Given the description of an element on the screen output the (x, y) to click on. 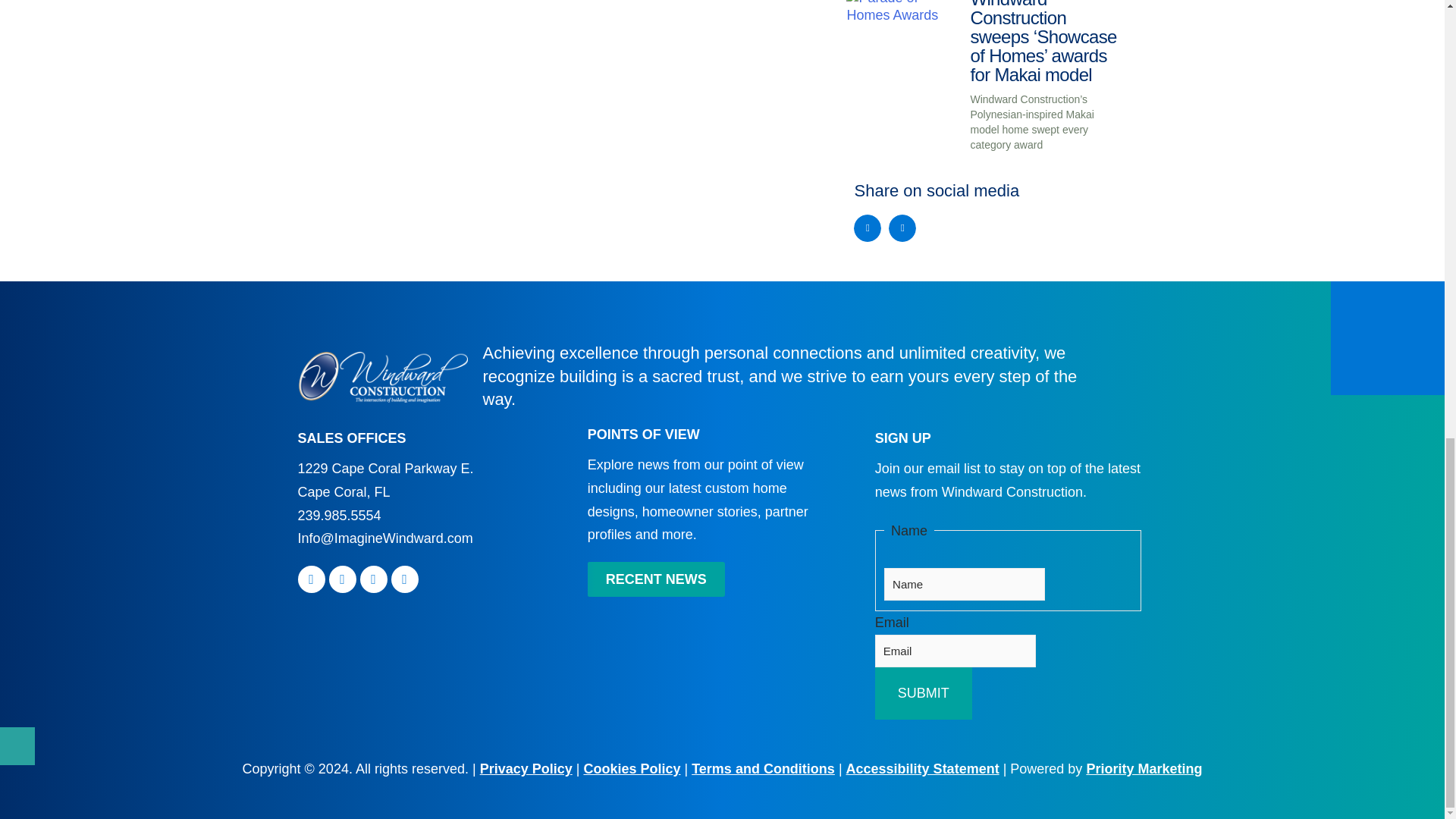
Submit (923, 693)
Instagram-square (342, 578)
Submit (923, 693)
Facebook-square (310, 578)
RECENT NEWS (656, 579)
Privacy Policy (526, 768)
Linkedin (373, 578)
Cookies Policy (631, 768)
Houzz (405, 578)
